Given the description of an element on the screen output the (x, y) to click on. 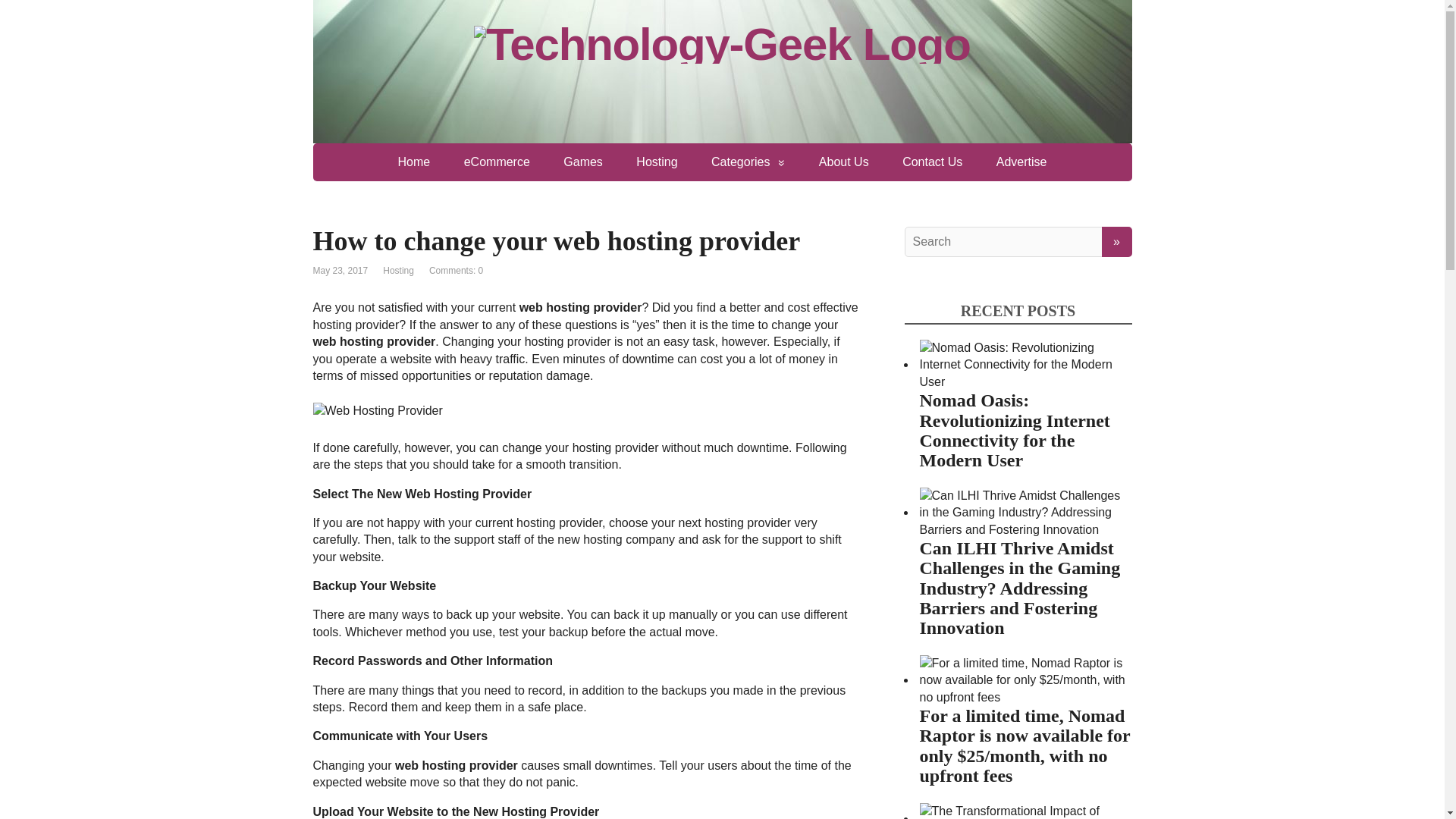
eCommerce (496, 161)
Advertise (1021, 161)
Comments: 0 (456, 270)
Hosting (657, 161)
Games (582, 161)
About Us (843, 161)
Hosting (397, 270)
Categories (747, 161)
Web Hosting Provider (377, 410)
Home (413, 161)
Contact Us (931, 161)
